Given the description of an element on the screen output the (x, y) to click on. 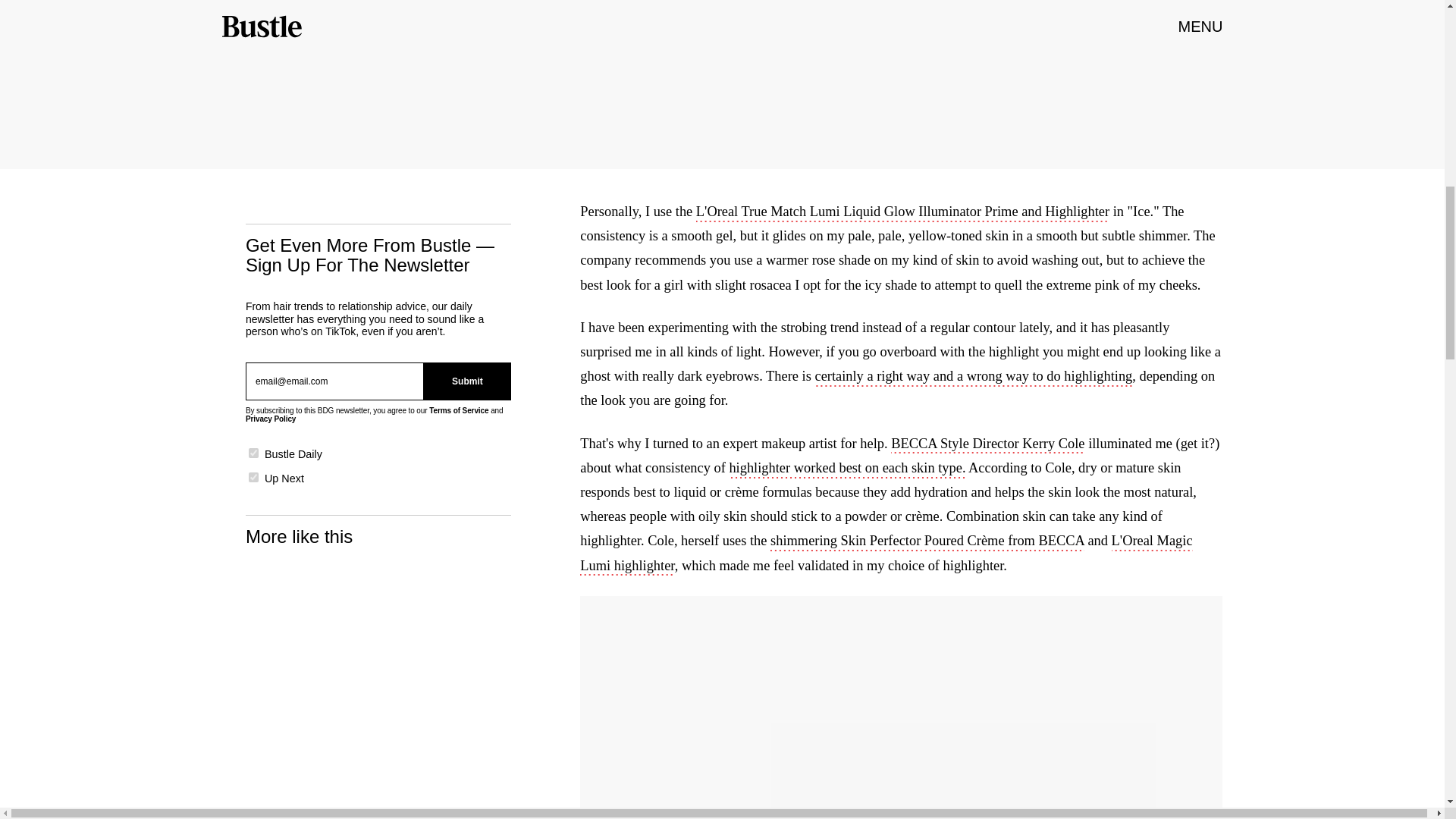
Privacy Policy (270, 418)
certainly a right way and a wrong way to do highlighting (972, 377)
Terms of Service (458, 410)
highlighter worked best on each skin type. (847, 469)
BECCA Style Director Kerry Cole (987, 444)
L'Oreal Magic Lumi highlighter (885, 554)
Submit (467, 381)
